Given the description of an element on the screen output the (x, y) to click on. 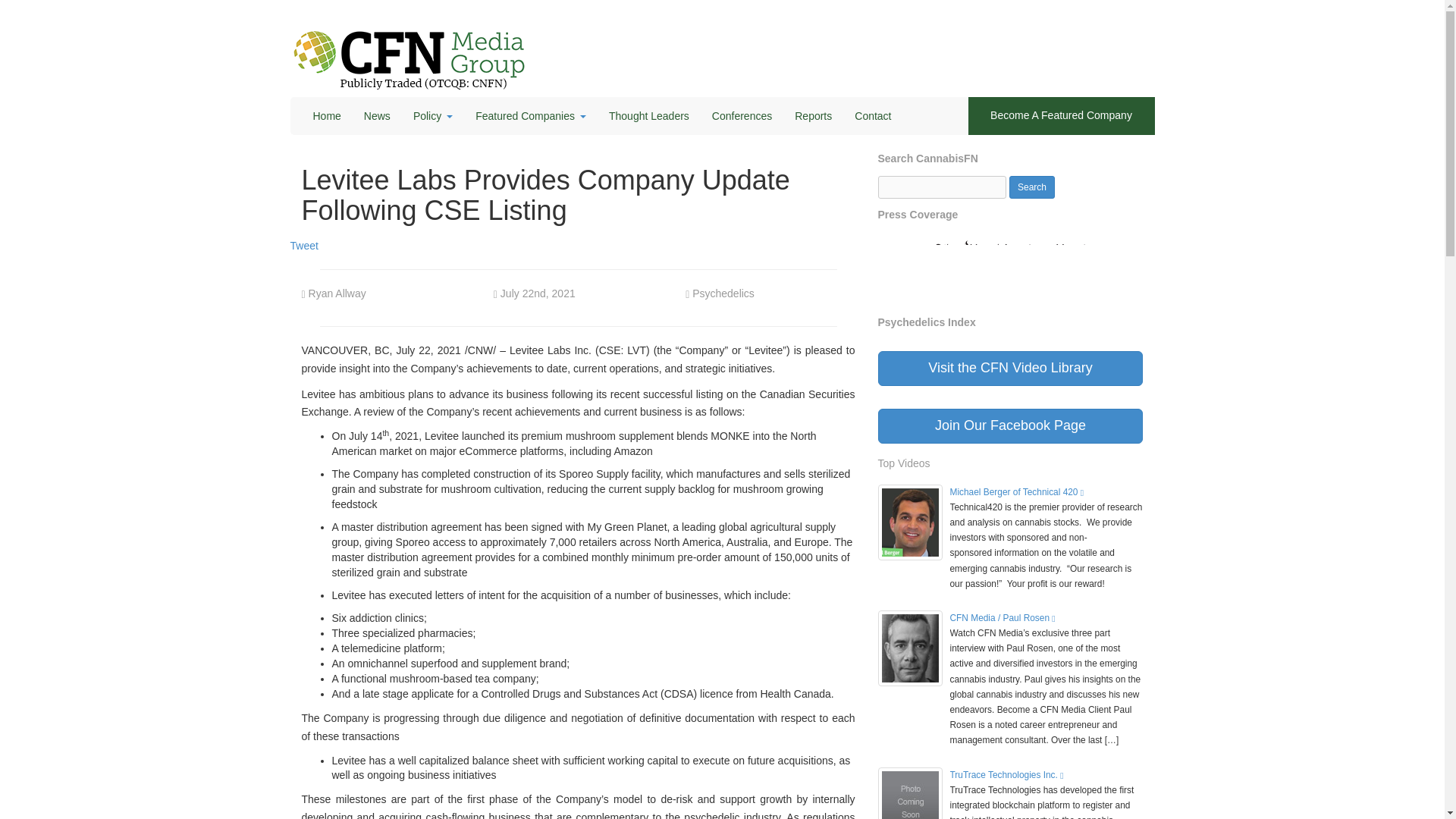
Reports (813, 116)
Thought Leaders (648, 116)
Conferences (741, 116)
Join Our Facebook Page (1009, 425)
Become A Featured Company (1061, 116)
Search (1031, 187)
Visit the CFN Video Library (1009, 368)
Michael Berger of Technical 420 (1016, 491)
Tweet (303, 245)
News (376, 116)
